Given the description of an element on the screen output the (x, y) to click on. 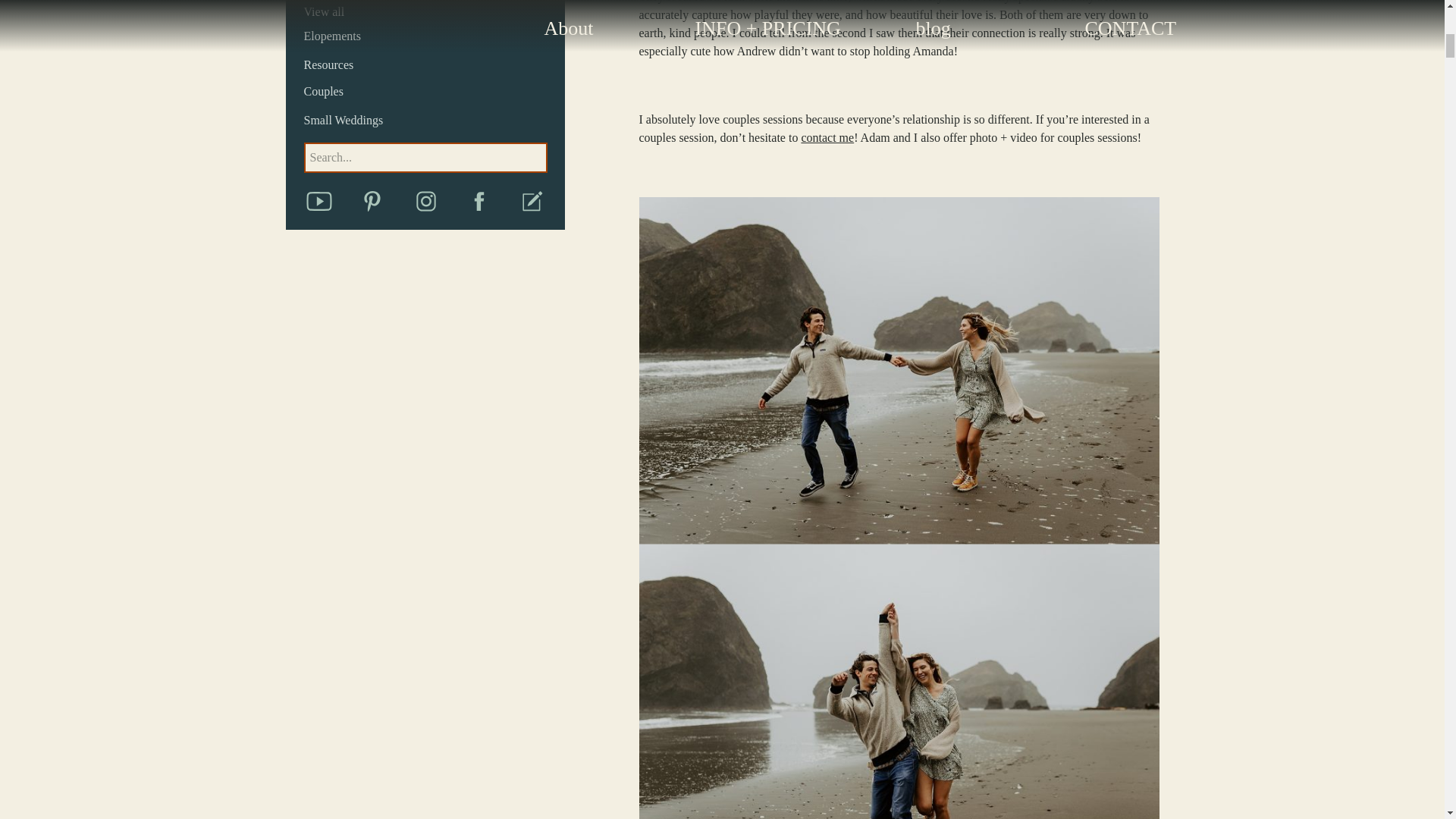
Couples (433, 93)
Resources (433, 64)
Small Weddings (433, 119)
View all (433, 13)
Elopements (433, 36)
